Given the description of an element on the screen output the (x, y) to click on. 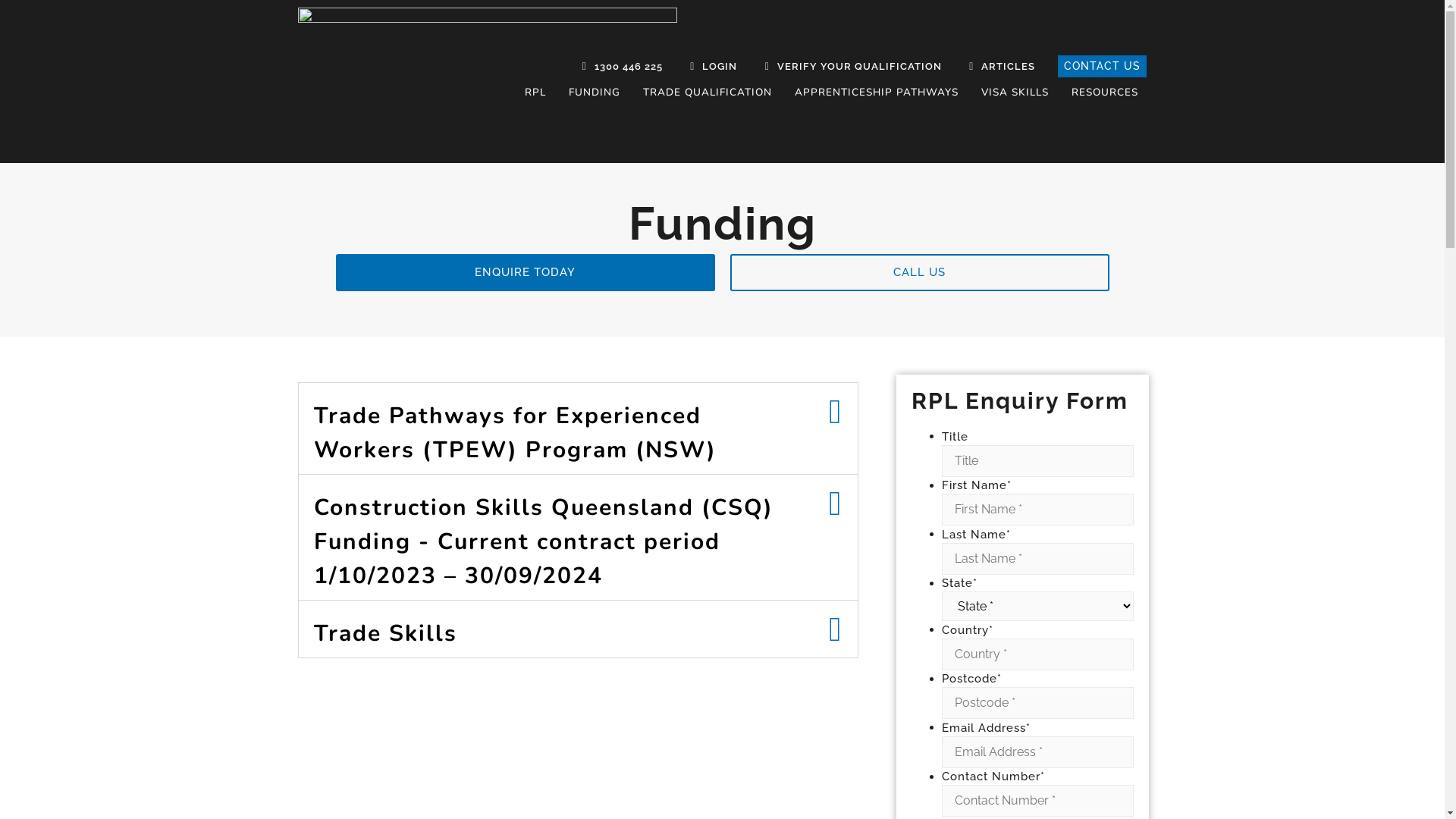
CONTACT US Element type: text (1101, 66)
FUNDING Element type: text (594, 92)
APPRENTICESHIP PATHWAYS Element type: text (876, 92)
TRADE QUALIFICATION Element type: text (707, 92)
LOGIN Element type: text (709, 66)
VISA SKILLS Element type: text (1014, 92)
VERIFY YOUR QUALIFICATION Element type: text (848, 66)
CALL US Element type: text (918, 272)
RPL Element type: text (535, 92)
Trade Skills Element type: text (385, 633)
ENQUIRE TODAY Element type: text (524, 272)
Trade Pathways for Experienced Workers (TPEW) Program (NSW) Element type: text (514, 432)
RESOURCES Element type: text (1104, 92)
1300 446 225 Element type: text (617, 66)
ARTICLES Element type: text (997, 66)
